Given the description of an element on the screen output the (x, y) to click on. 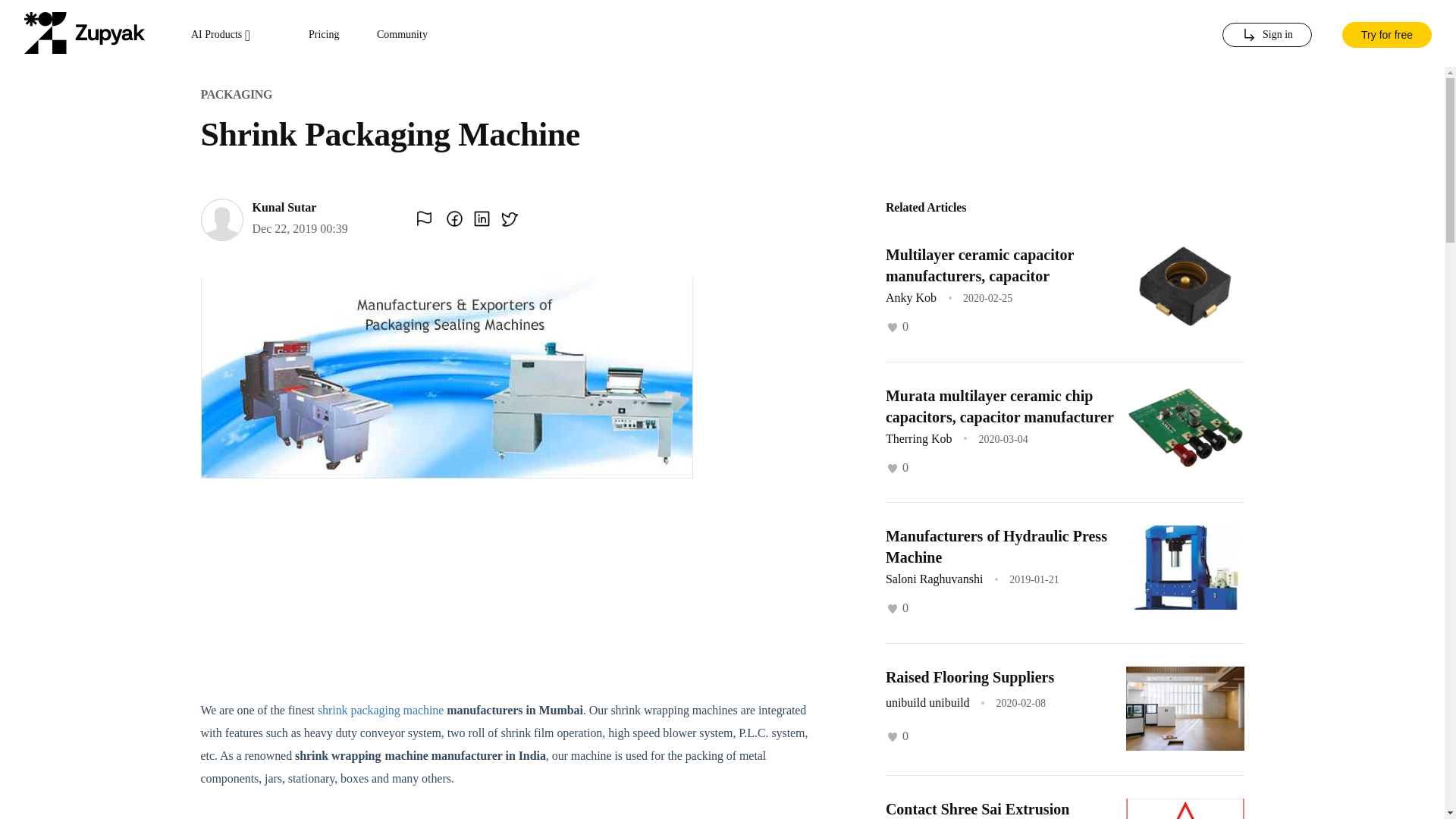
shrink packaging machine (380, 709)
Pricing (323, 34)
PACKAGING (235, 93)
Manufacturers of Hydraulic Press Machine (995, 546)
Community (402, 34)
Try for free (1386, 33)
 Sign in (1267, 34)
Raised Flooring Suppliers (969, 677)
